Given the description of an element on the screen output the (x, y) to click on. 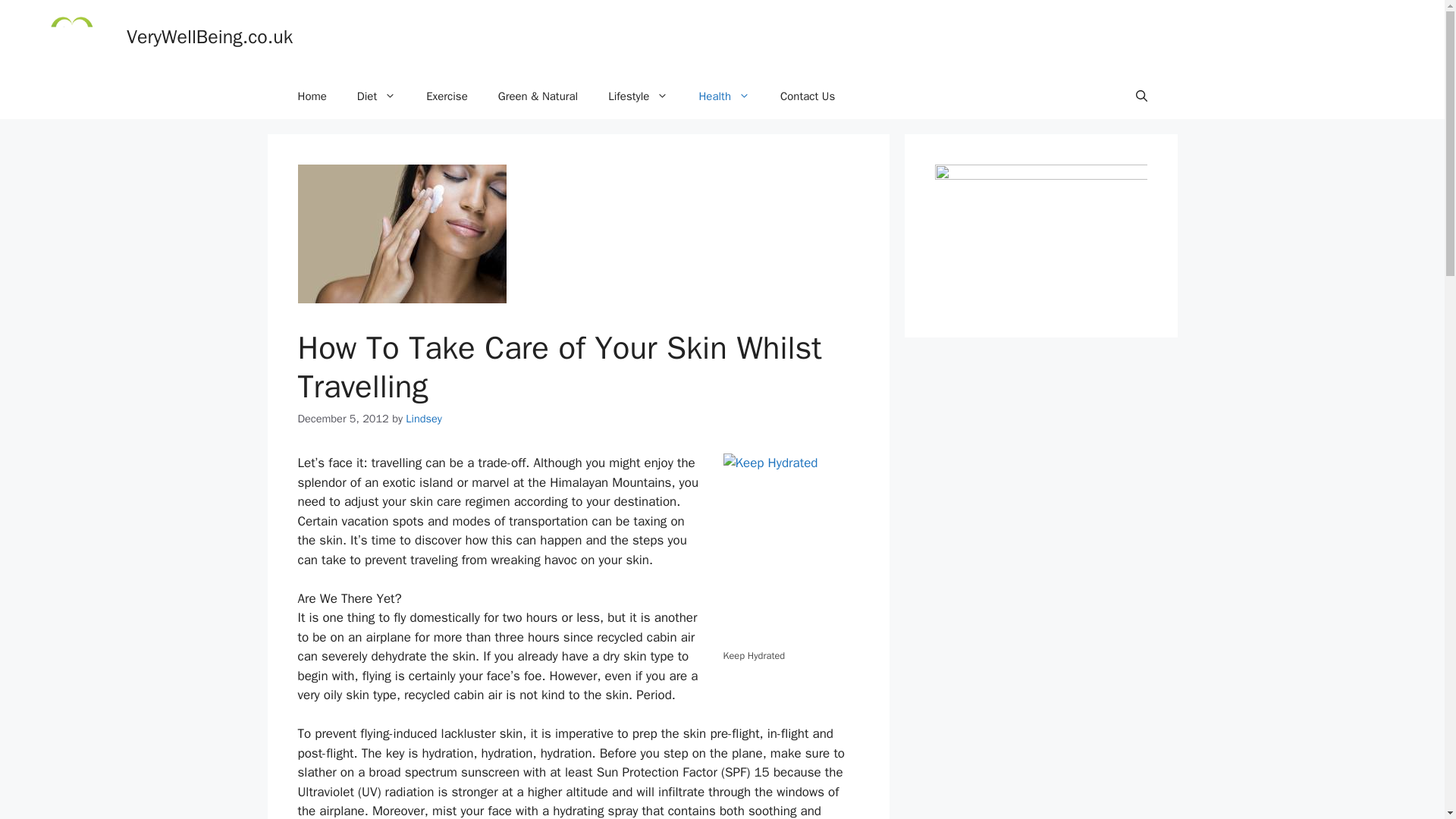
View all posts by Lindsey (424, 418)
Lifestyle (637, 95)
Diet (376, 95)
Contact Us (807, 95)
Health (723, 95)
VeryWellBeing.co.uk (209, 36)
Lindsey (424, 418)
Exercise (446, 95)
Home (311, 95)
